Given the description of an element on the screen output the (x, y) to click on. 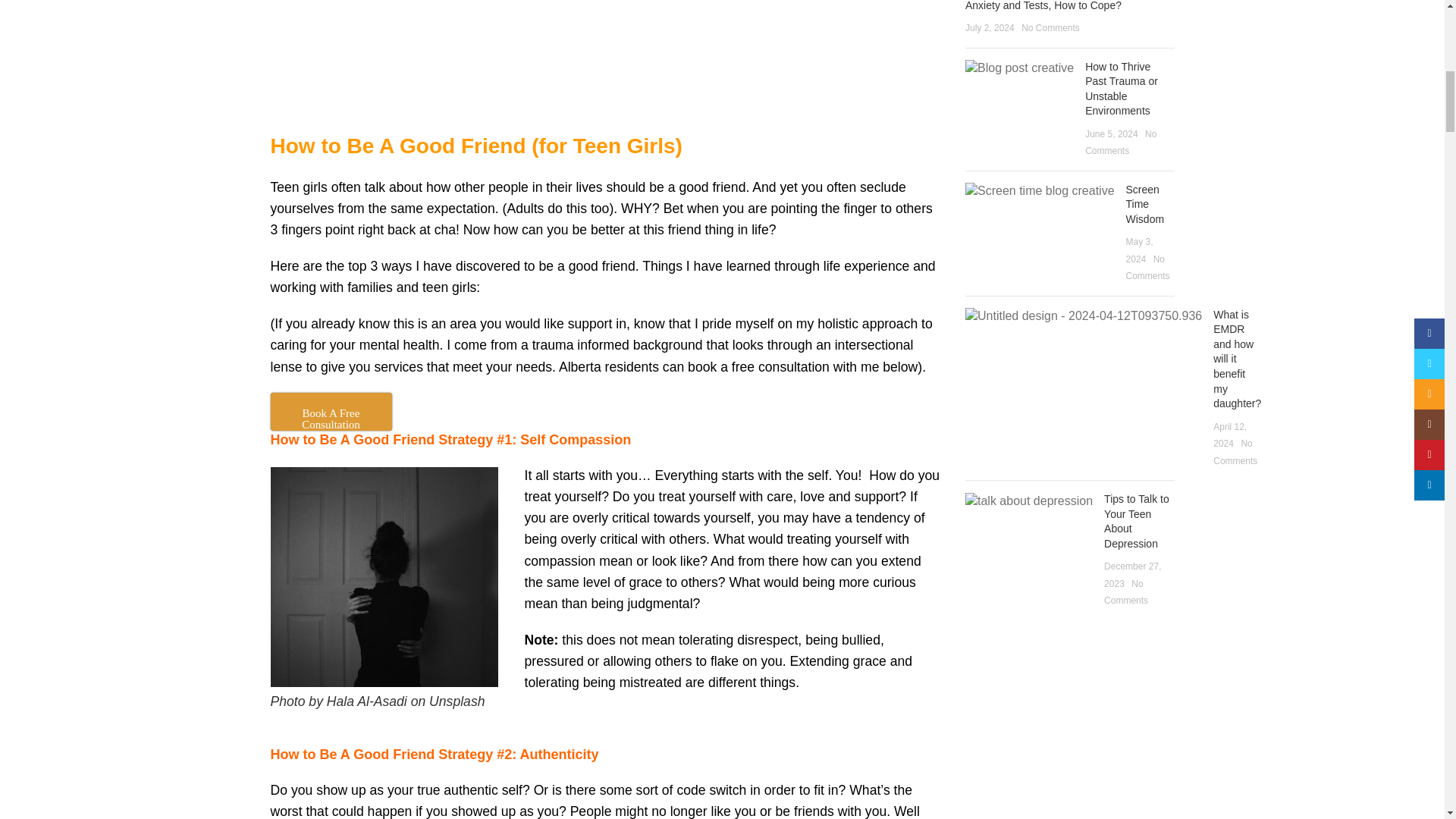
Book A Free Consultation (330, 411)
